Given the description of an element on the screen output the (x, y) to click on. 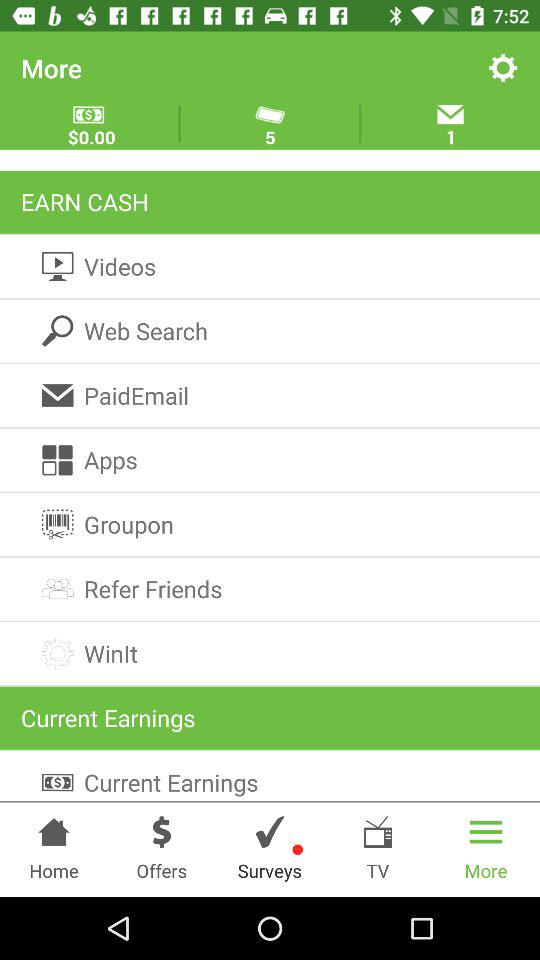
tap item below refer friends icon (270, 653)
